Given the description of an element on the screen output the (x, y) to click on. 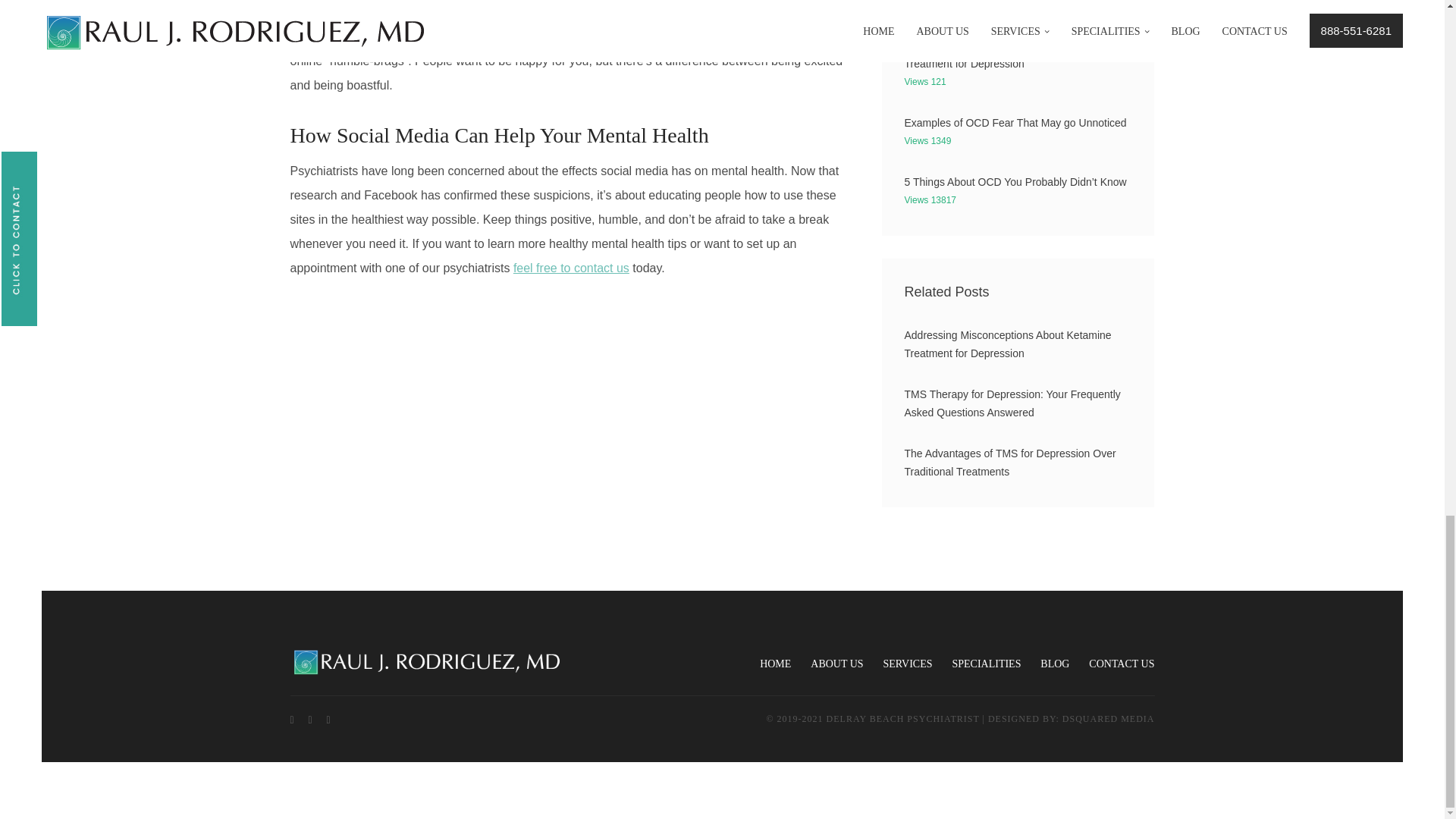
BLOG (1054, 663)
dsquared media (1108, 718)
CONTACT US (1121, 663)
ABOUT US (836, 663)
SPECIALITIES (986, 663)
HOME (775, 663)
feel free to contact us (570, 267)
Examples of OCD Fear That May go Unnoticed (1014, 122)
